Given the description of an element on the screen output the (x, y) to click on. 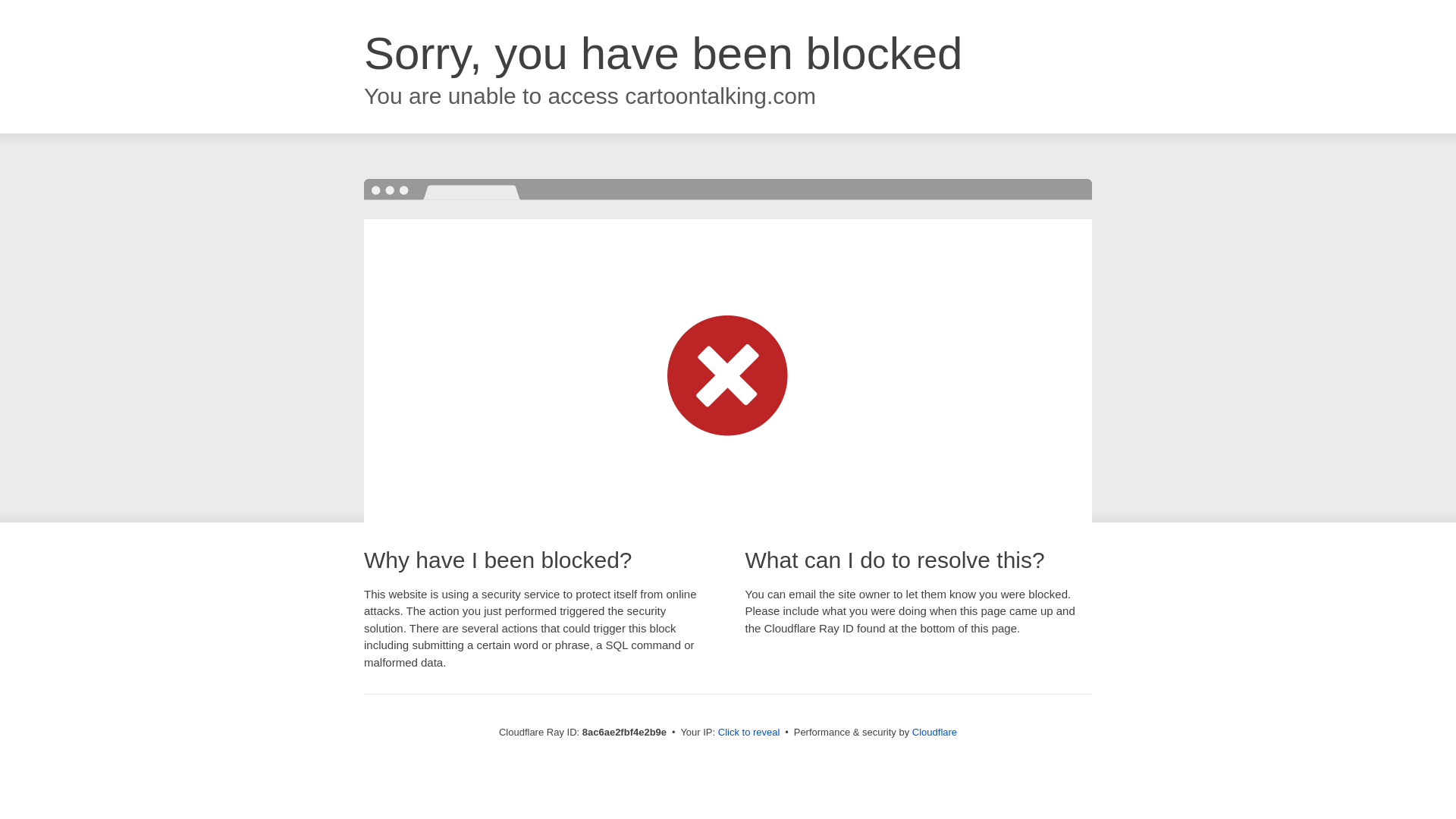
Cloudflare (934, 731)
Click to reveal (748, 732)
